Given the description of an element on the screen output the (x, y) to click on. 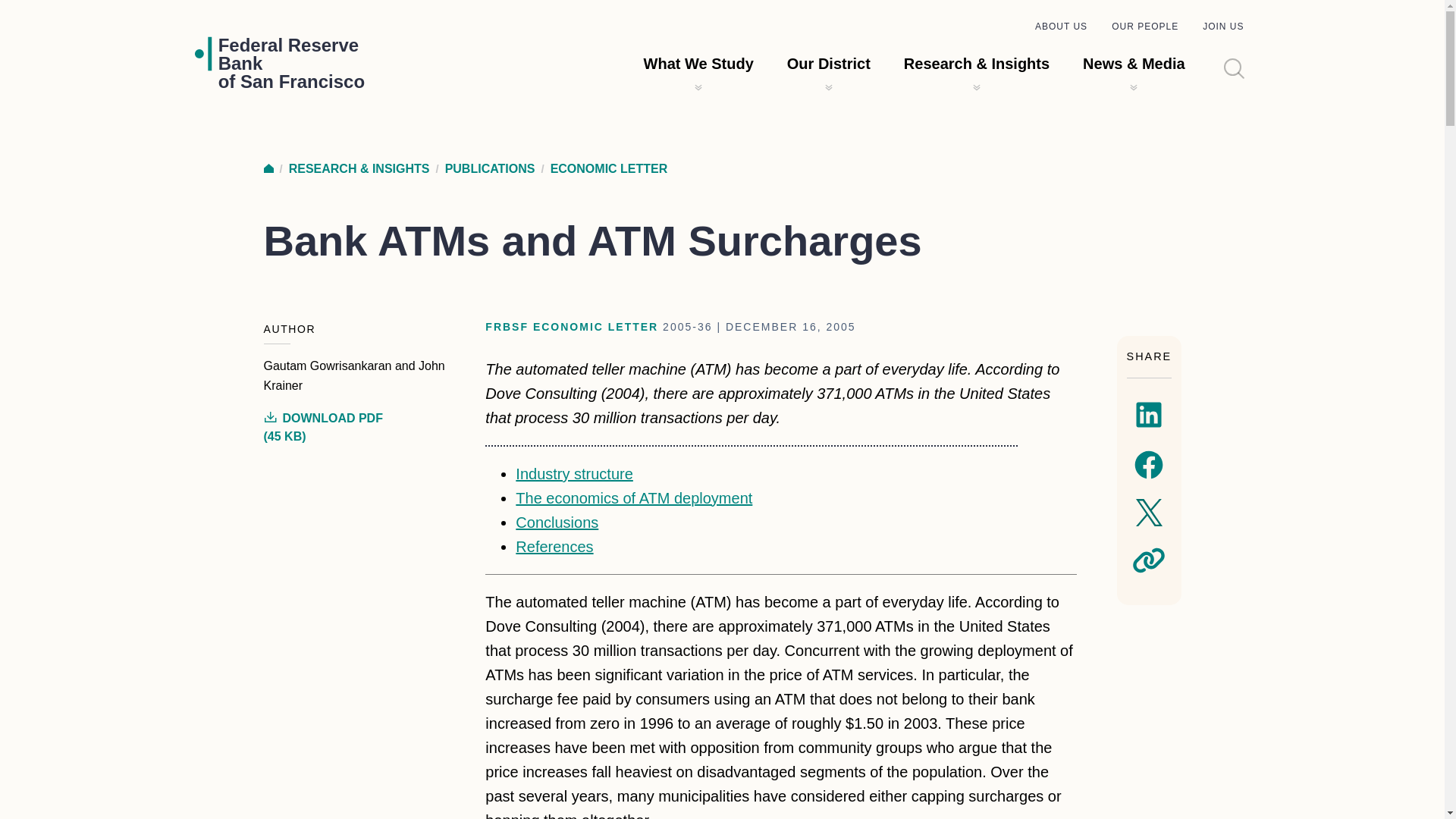
ABOUT US (1061, 26)
HOME (268, 167)
Our District (828, 63)
JOIN US (291, 63)
What We Study (1222, 26)
OUR PEOPLE (698, 63)
